Given the description of an element on the screen output the (x, y) to click on. 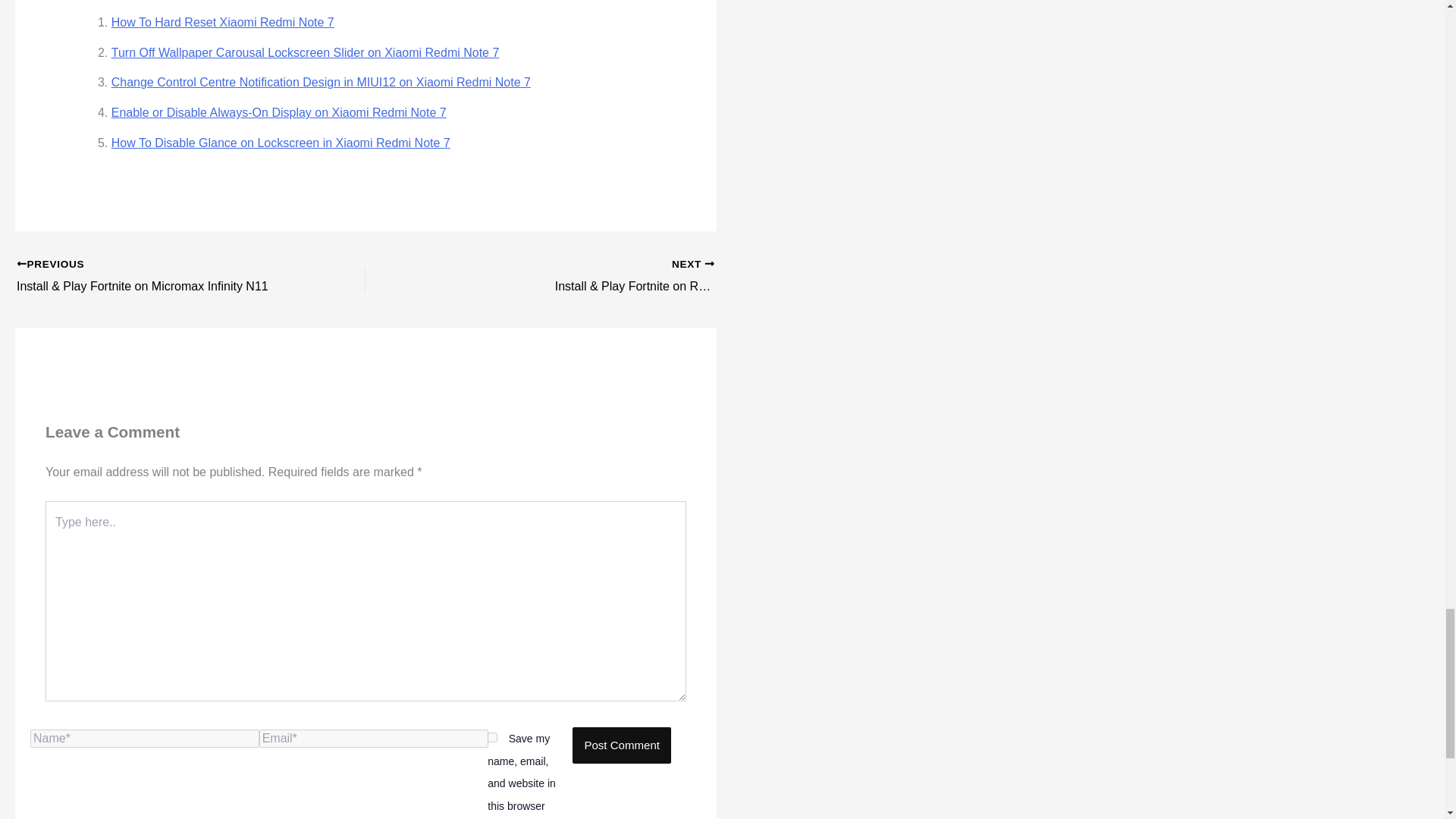
How To Hard Reset Xiaomi Redmi Note 7 (223, 21)
Post Comment (621, 745)
yes (492, 737)
Enable or Disable Always-On Display on Xiaomi Redmi Note 7 (279, 112)
How To Hard Reset Xiaomi Redmi Note 7 (223, 21)
How To Disable Glance on Lockscreen in Xiaomi Redmi Note 7 (280, 142)
